Given the description of an element on the screen output the (x, y) to click on. 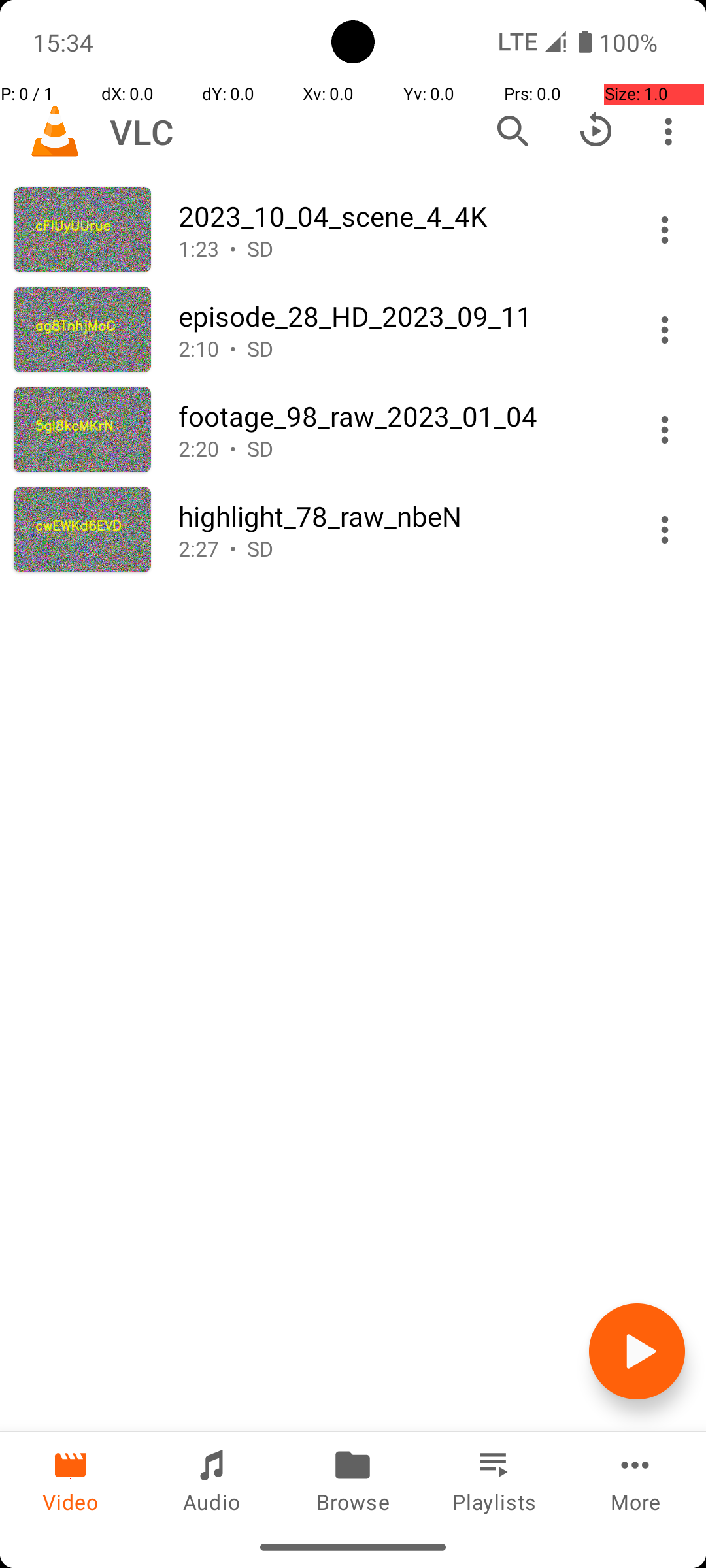
Resume playback Element type: android.widget.TextView (595, 131)
Play Element type: android.widget.ImageButton (637, 1351)
Video: 2023_10_04_scene_4_4K, Duration: 1 minutes 23 seconds Element type: android.view.ViewGroup (353, 229)
Video: episode_28_HD_2023_09_11, Duration: 2 minutes 10 seconds Element type: android.view.ViewGroup (353, 329)
Video: footage_98_raw_2023_01_04, Duration: 2 minutes 20 seconds Element type: android.view.ViewGroup (353, 429)
Video: highlight_78_raw_nbeN, Duration: 2 minutes 27 seconds Element type: android.view.ViewGroup (353, 529)
2023_10_04_scene_4_4K Element type: android.widget.TextView (397, 215)
1:23  •  SD Element type: android.widget.TextView (397, 248)
More Actions Element type: android.widget.ImageView (664, 229)
episode_28_HD_2023_09_11 Element type: android.widget.TextView (397, 315)
2:10  •  SD Element type: android.widget.TextView (397, 348)
footage_98_raw_2023_01_04 Element type: android.widget.TextView (397, 415)
2:20  •  SD Element type: android.widget.TextView (397, 448)
highlight_78_raw_nbeN Element type: android.widget.TextView (397, 515)
2:27  •  SD Element type: android.widget.TextView (397, 548)
